Given the description of an element on the screen output the (x, y) to click on. 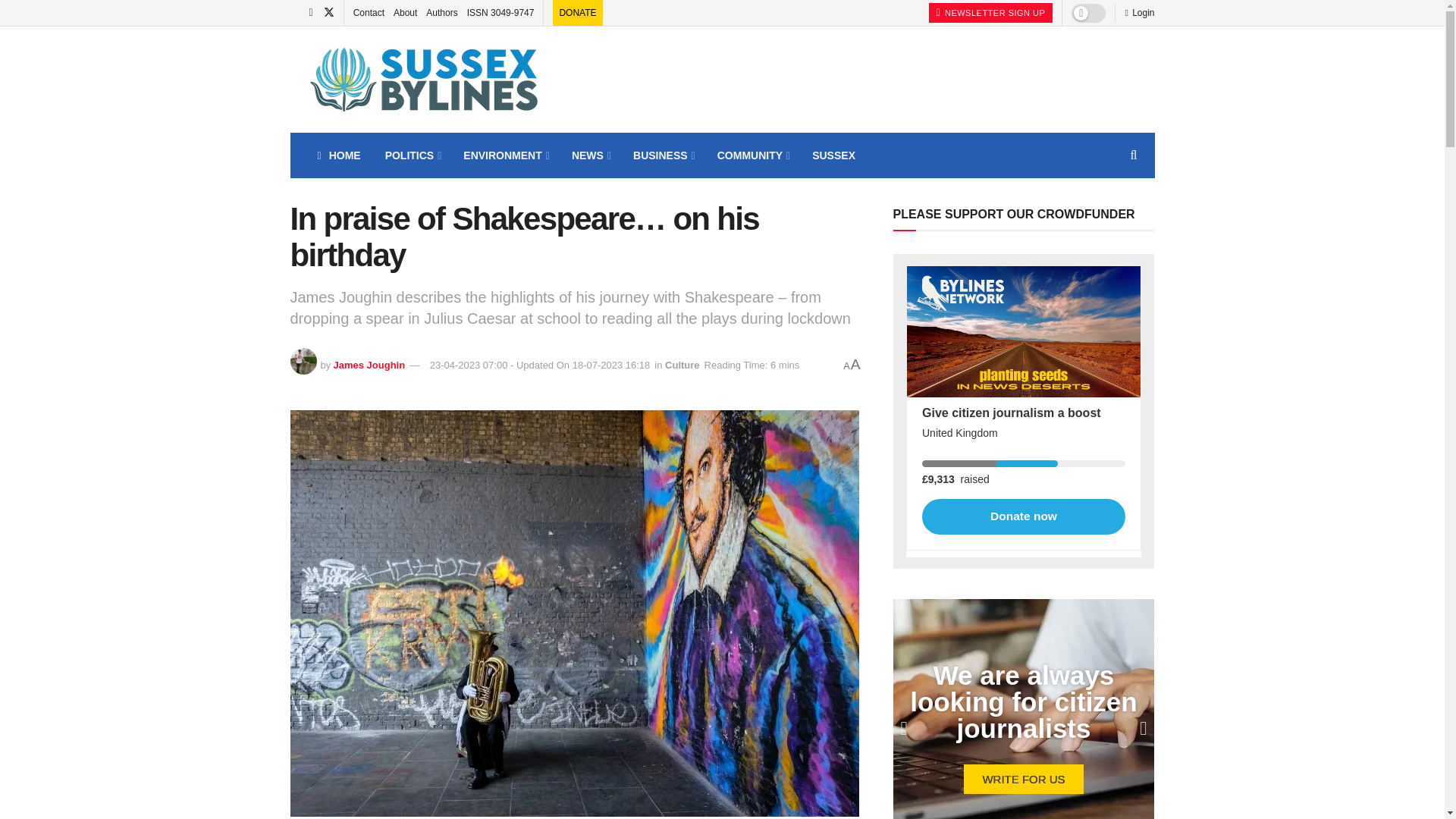
SUSSEX (833, 155)
Culture (682, 365)
Contact (368, 12)
DONATE (577, 12)
Authors (441, 12)
NEWSLETTER SIGN UP (990, 12)
COMMUNITY (751, 155)
ENVIRONMENT (505, 155)
Advertisement (878, 77)
HOME (338, 155)
About (404, 12)
ISSN 3049-9747 (500, 12)
James Joughin (368, 365)
BUSINESS (662, 155)
